Given the description of an element on the screen output the (x, y) to click on. 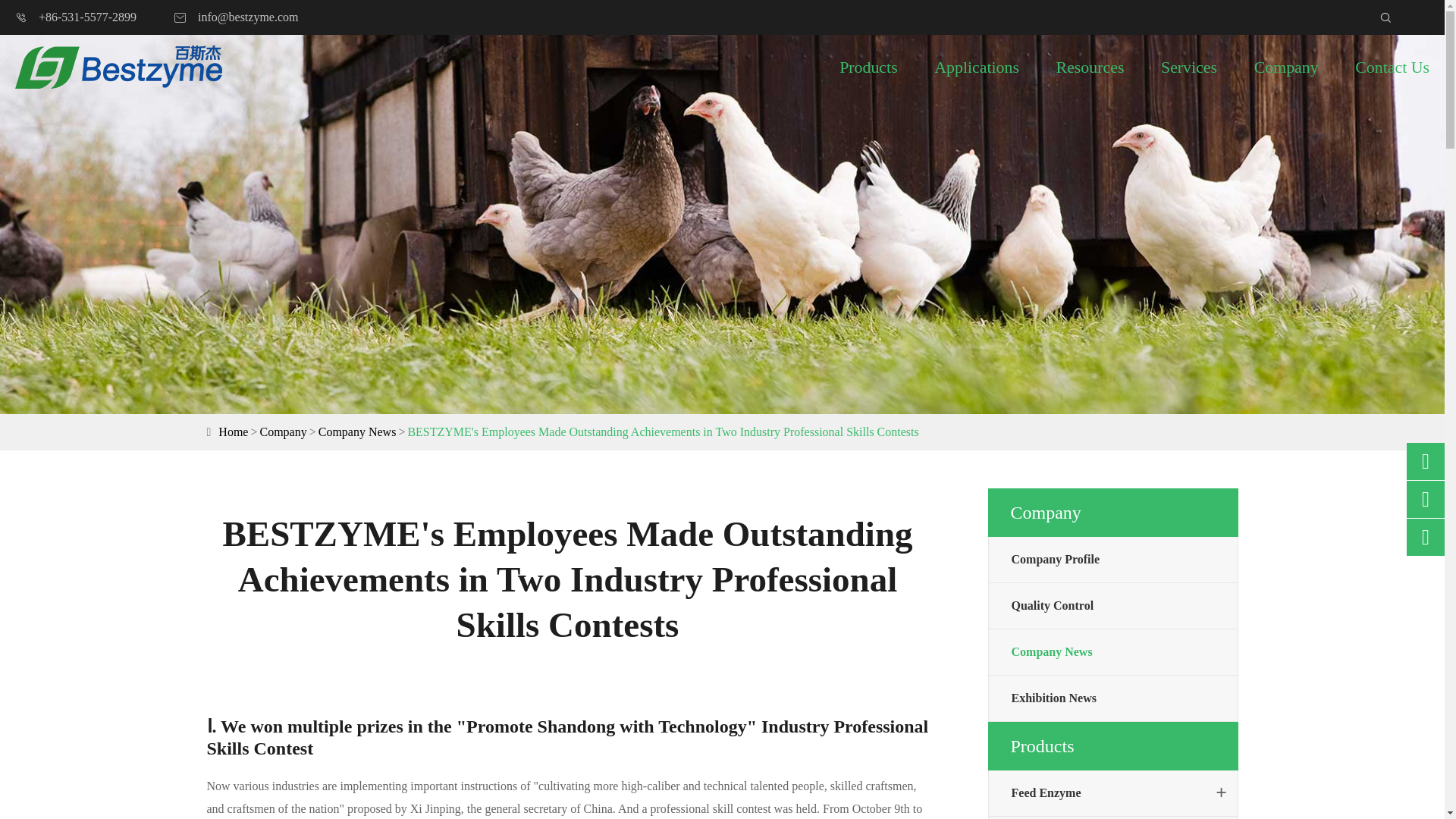
Resources (1090, 66)
Company News (357, 432)
Services (1188, 66)
Company (282, 432)
Applications (976, 66)
Products (869, 66)
